Given the description of an element on the screen output the (x, y) to click on. 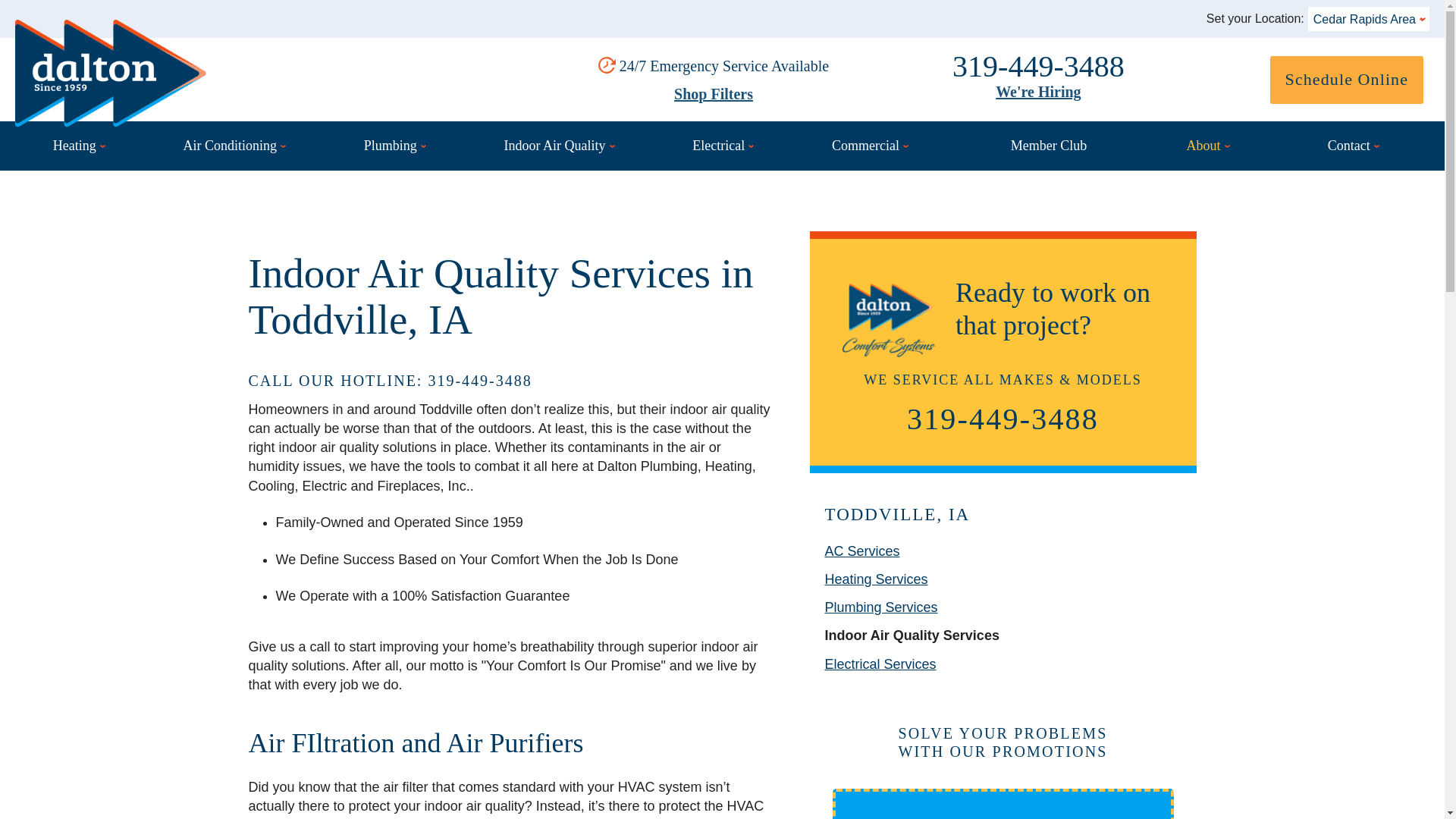
Schedule Online (1346, 80)
Shop Filters (713, 93)
Cedar Rapids Area (1368, 18)
319-449-3488 (1038, 66)
Air Conditioning (234, 145)
We're Hiring (1037, 91)
Heating (78, 145)
